Given the description of an element on the screen output the (x, y) to click on. 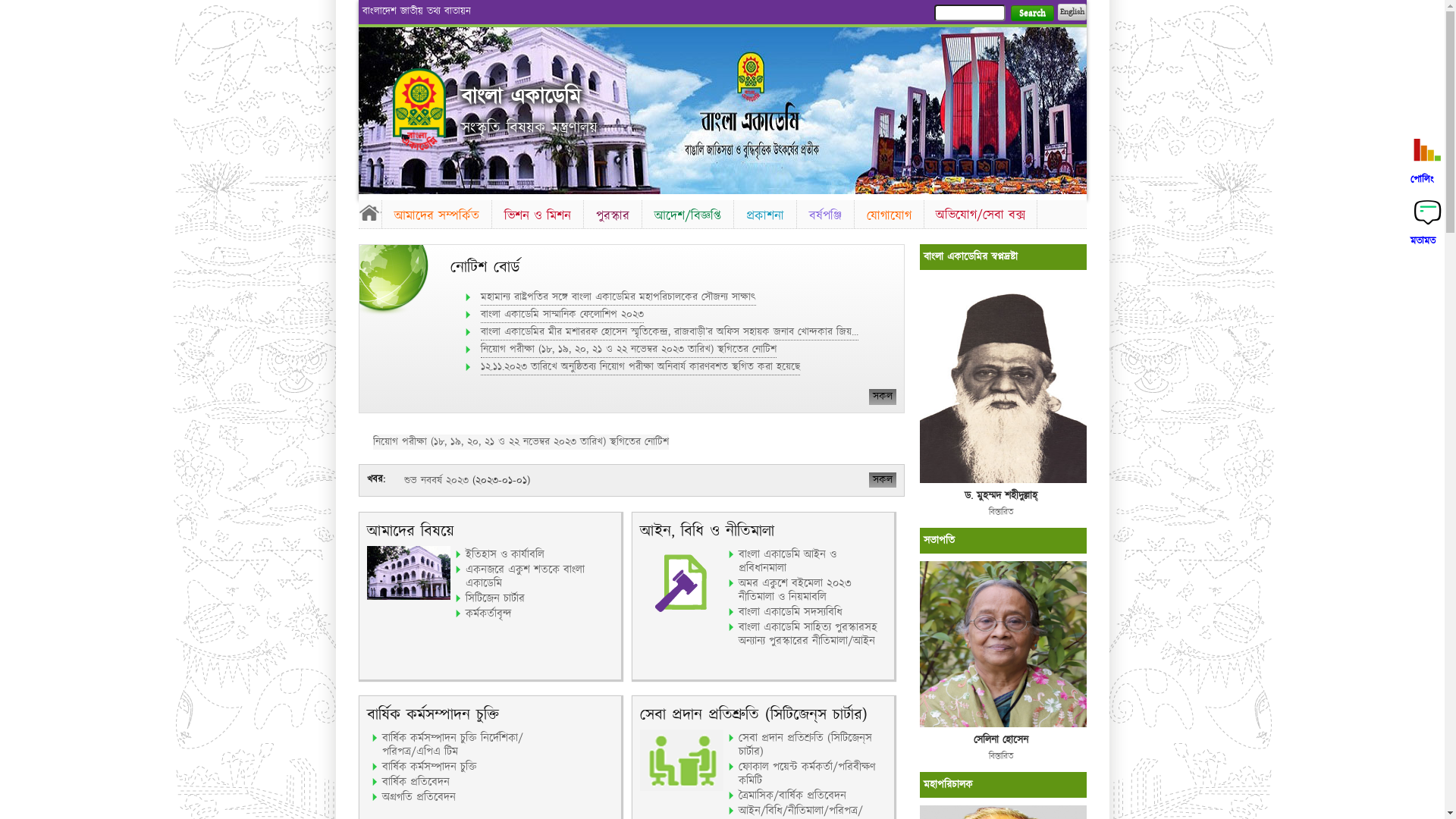
Home Element type: hover (368, 211)
Home Element type: hover (418, 109)
Search Element type: text (1031, 13)
English Element type: text (1071, 11)
